Given the description of an element on the screen output the (x, y) to click on. 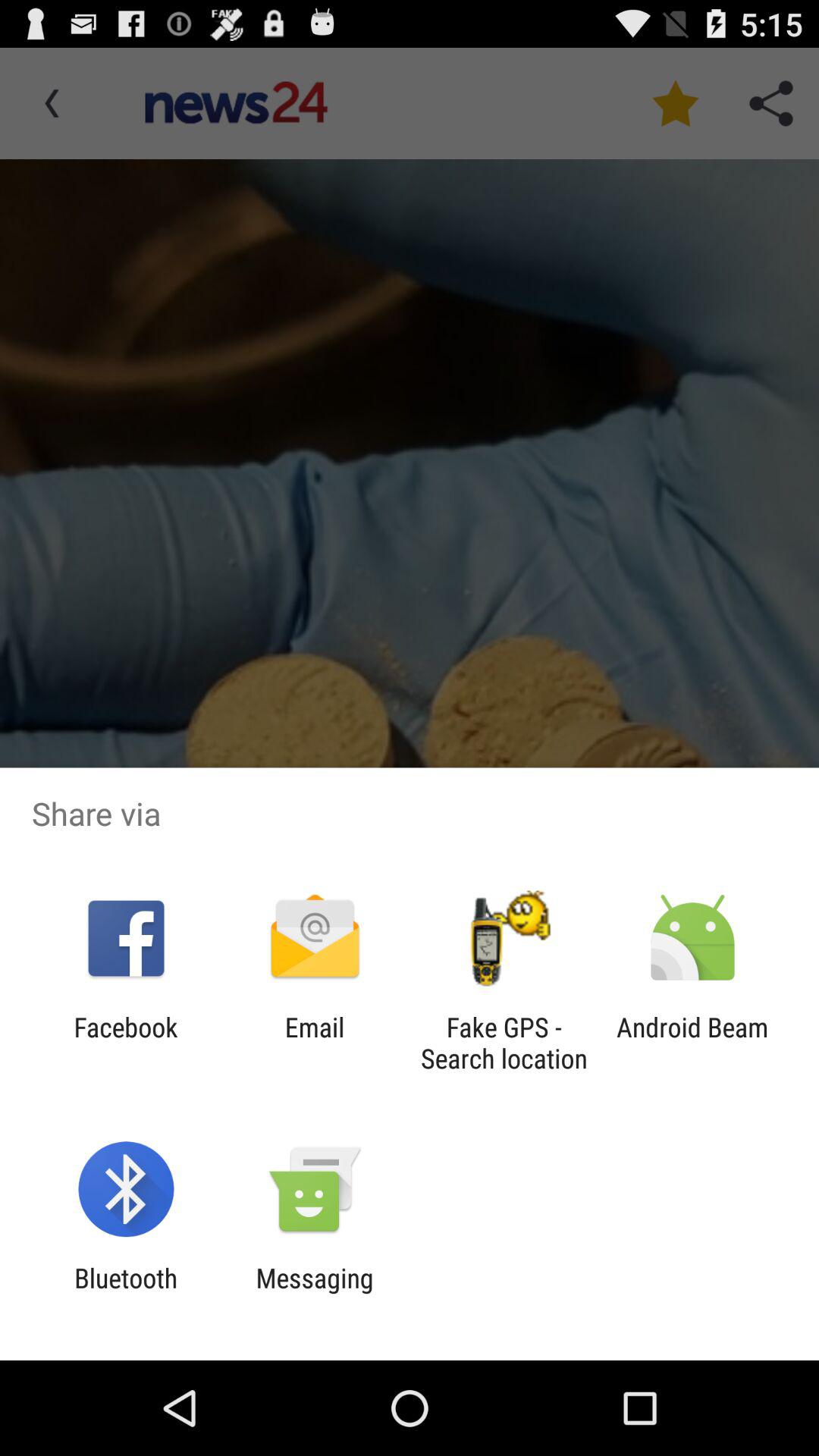
jump until bluetooth app (125, 1293)
